Given the description of an element on the screen output the (x, y) to click on. 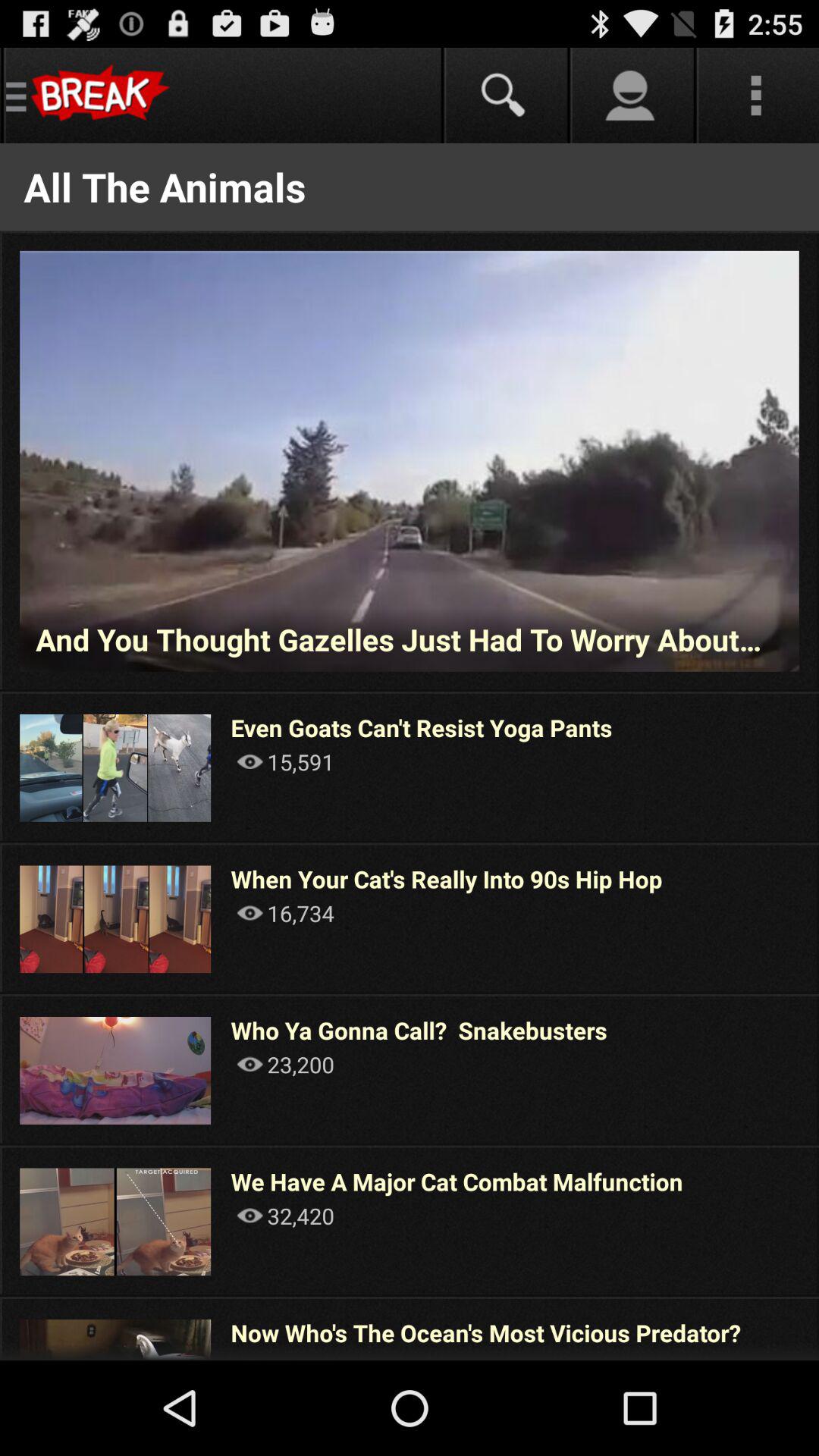
turn off app next to when your cat app (817, 918)
